Given the description of an element on the screen output the (x, y) to click on. 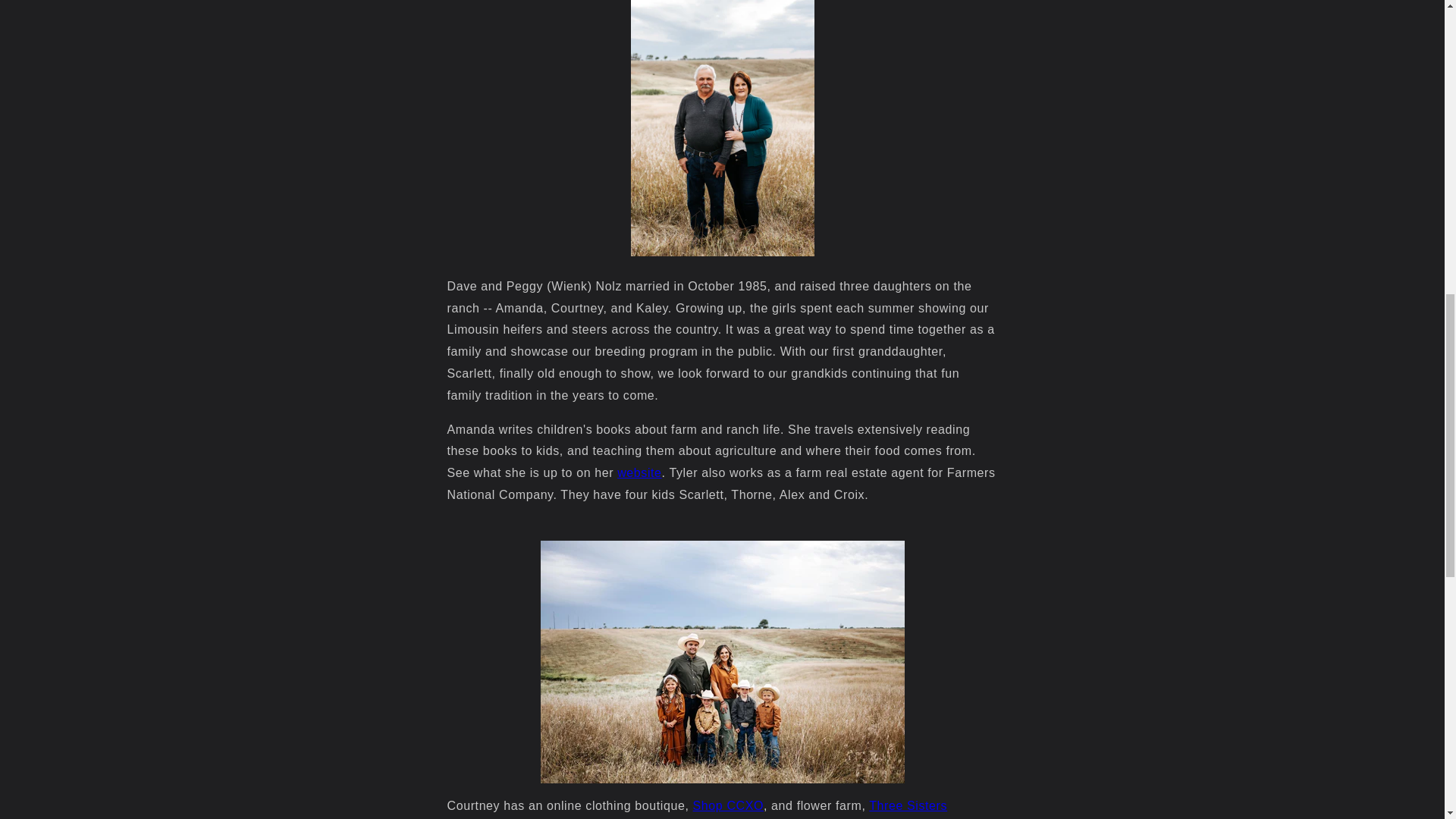
Amanda Radke (639, 472)
website (639, 472)
Shop CCXO (727, 805)
Three Sisters Blooms (696, 809)
Instagram (696, 809)
Shop CCXO (727, 805)
